Given the description of an element on the screen output the (x, y) to click on. 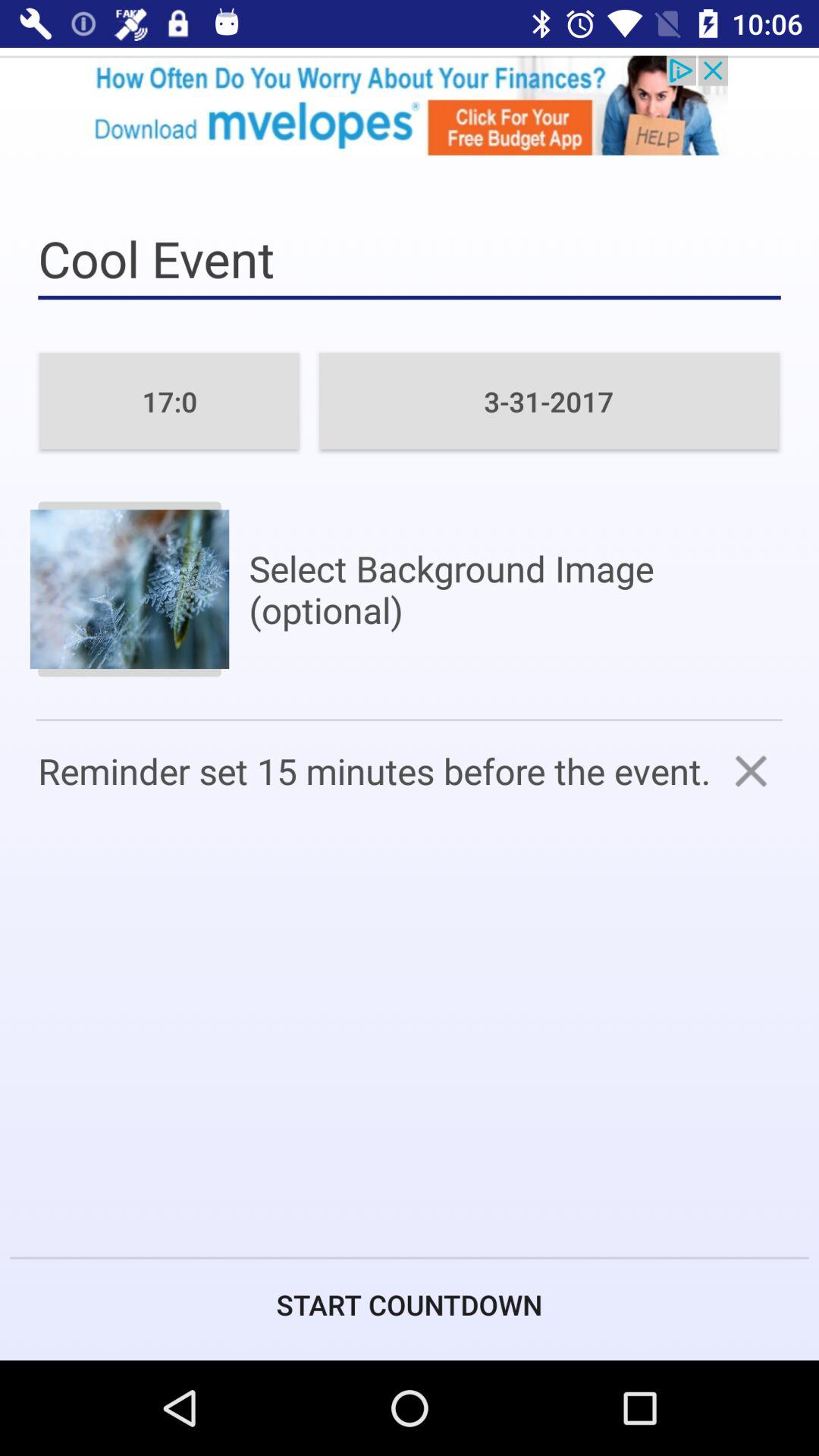
cancel the reminder (750, 770)
